Given the description of an element on the screen output the (x, y) to click on. 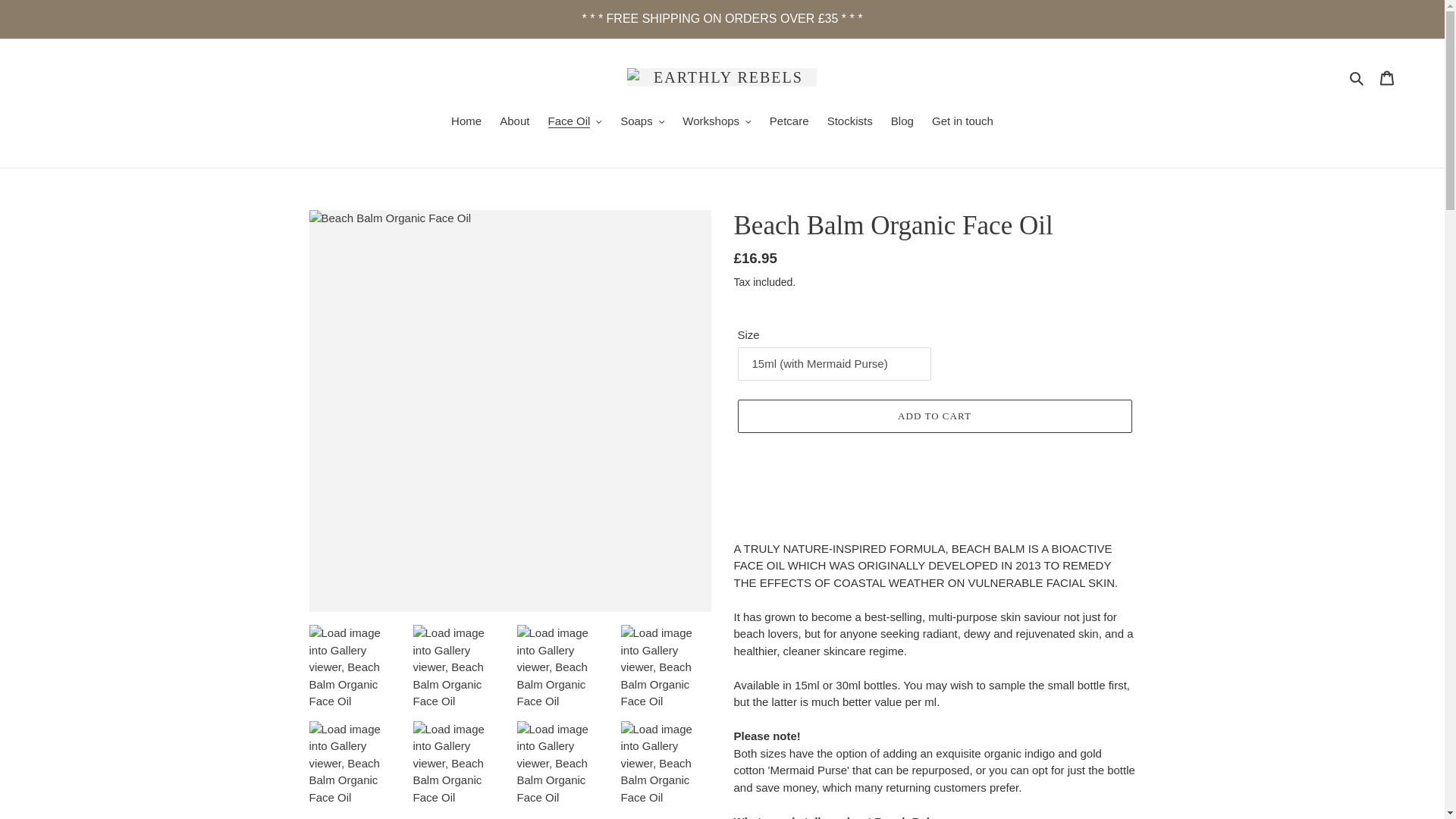
Search (1357, 76)
Face Oil (575, 121)
Home (466, 121)
Cart (1387, 77)
About (514, 121)
